Given the description of an element on the screen output the (x, y) to click on. 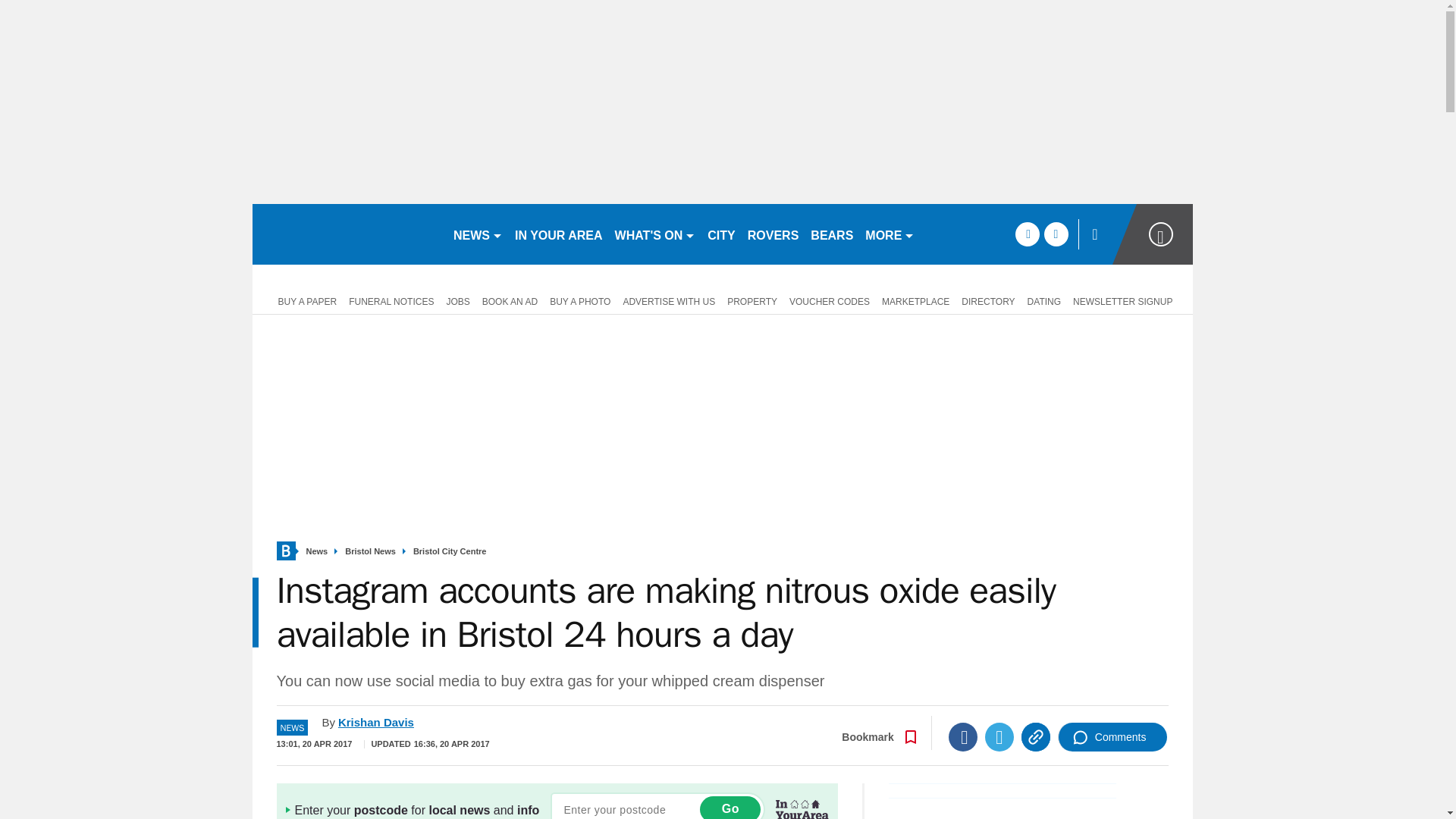
Comments (1112, 736)
Go (730, 807)
Twitter (999, 736)
MORE (889, 233)
WHAT'S ON (654, 233)
BEARS (832, 233)
facebook (1026, 233)
twitter (1055, 233)
IN YOUR AREA (558, 233)
NEWS (477, 233)
ROVERS (773, 233)
Facebook (962, 736)
bristolpost (345, 233)
